Given the description of an element on the screen output the (x, y) to click on. 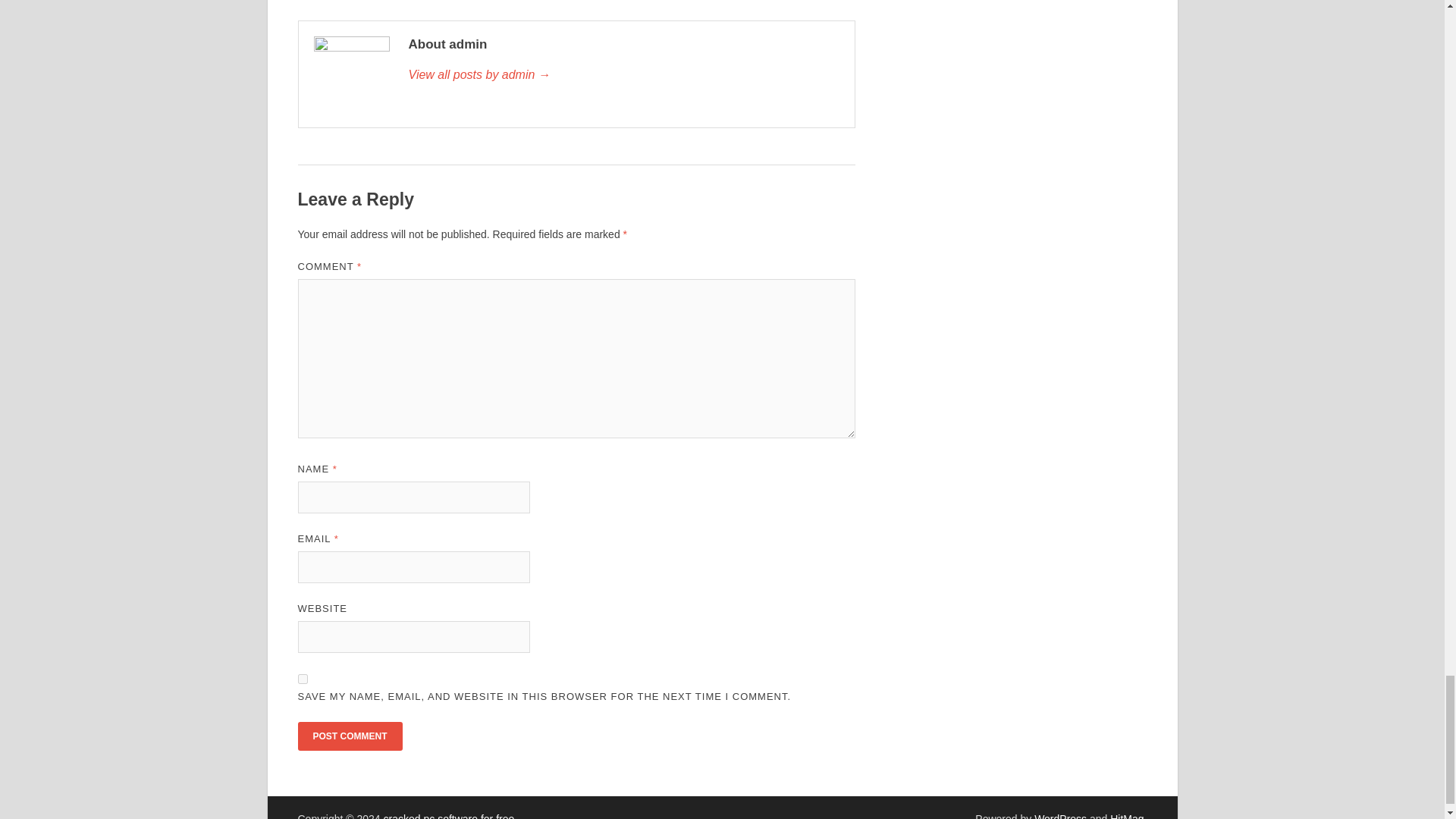
yes (302, 678)
Post Comment (349, 736)
admin (622, 75)
